Given the description of an element on the screen output the (x, y) to click on. 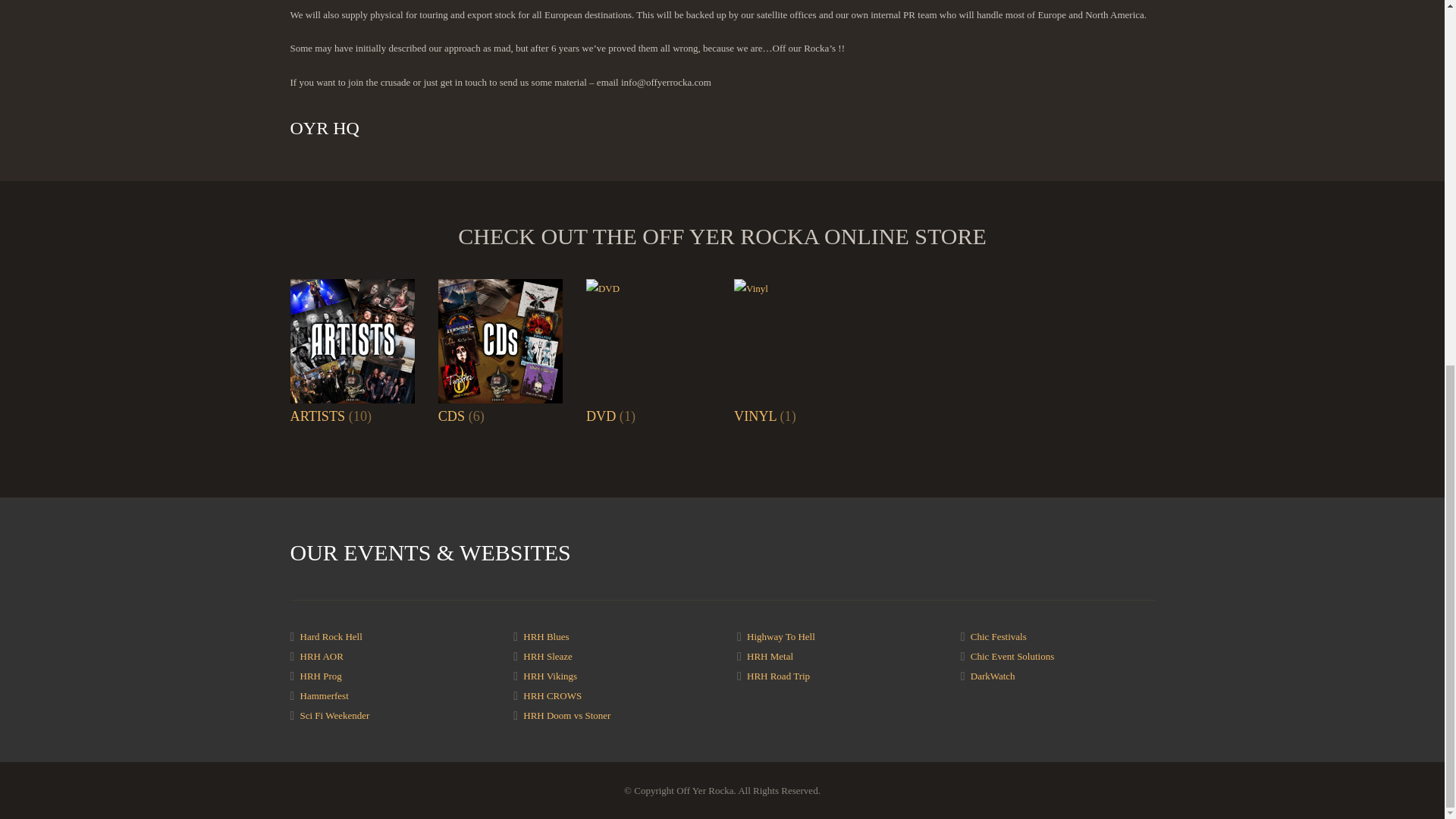
HRH Blues (545, 636)
HRH Doom vs Stoner (566, 715)
HRH Prog (320, 675)
Hard Rock Hell (330, 636)
HRH Vikings (549, 675)
Highway To Hell (780, 636)
Back to top (1413, 181)
HRH Metal (769, 655)
Sci Fi Weekender (334, 715)
HRH CROWS (551, 695)
